Given the description of an element on the screen output the (x, y) to click on. 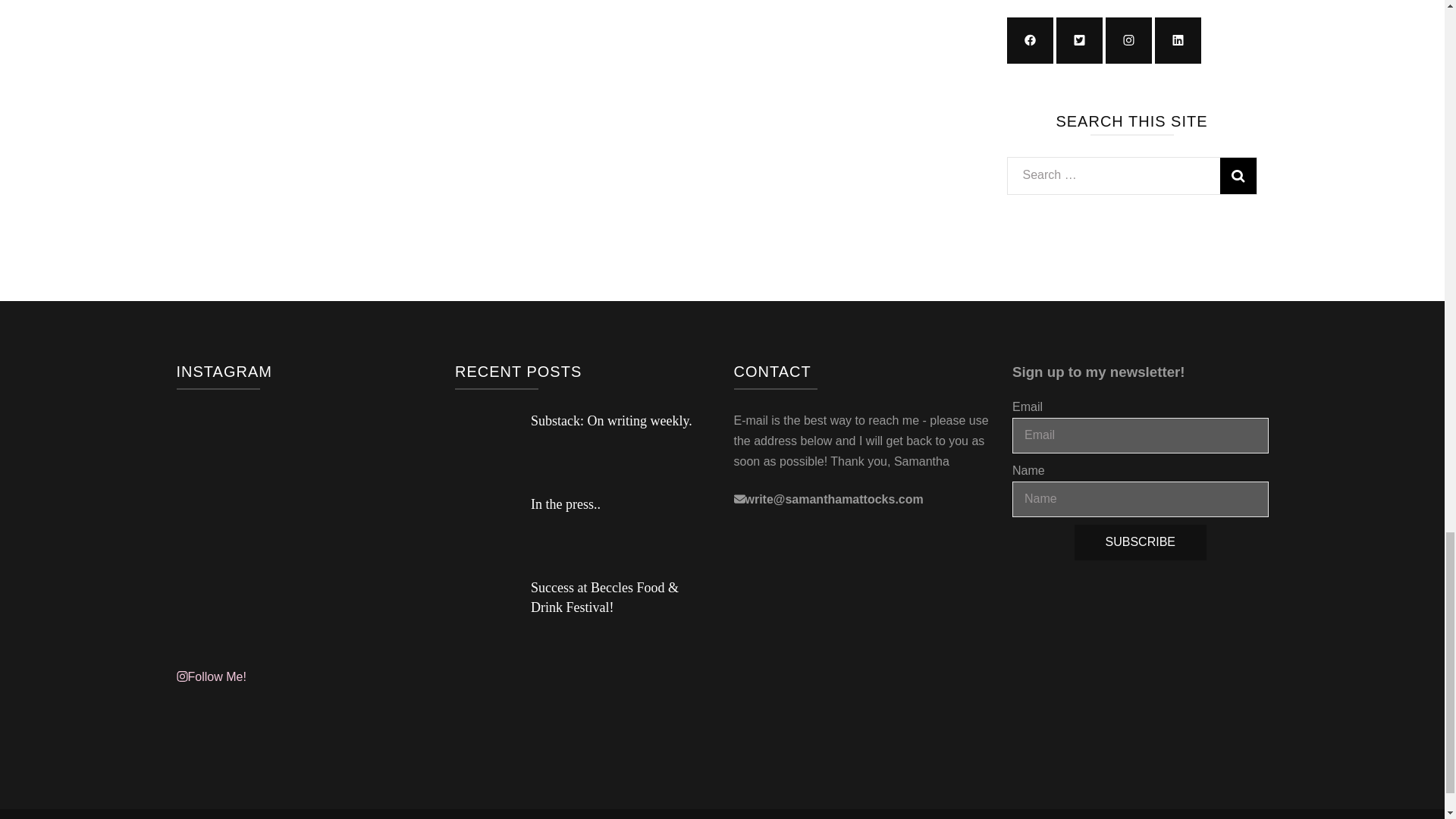
Search (1237, 176)
Search (1237, 176)
